Given the description of an element on the screen output the (x, y) to click on. 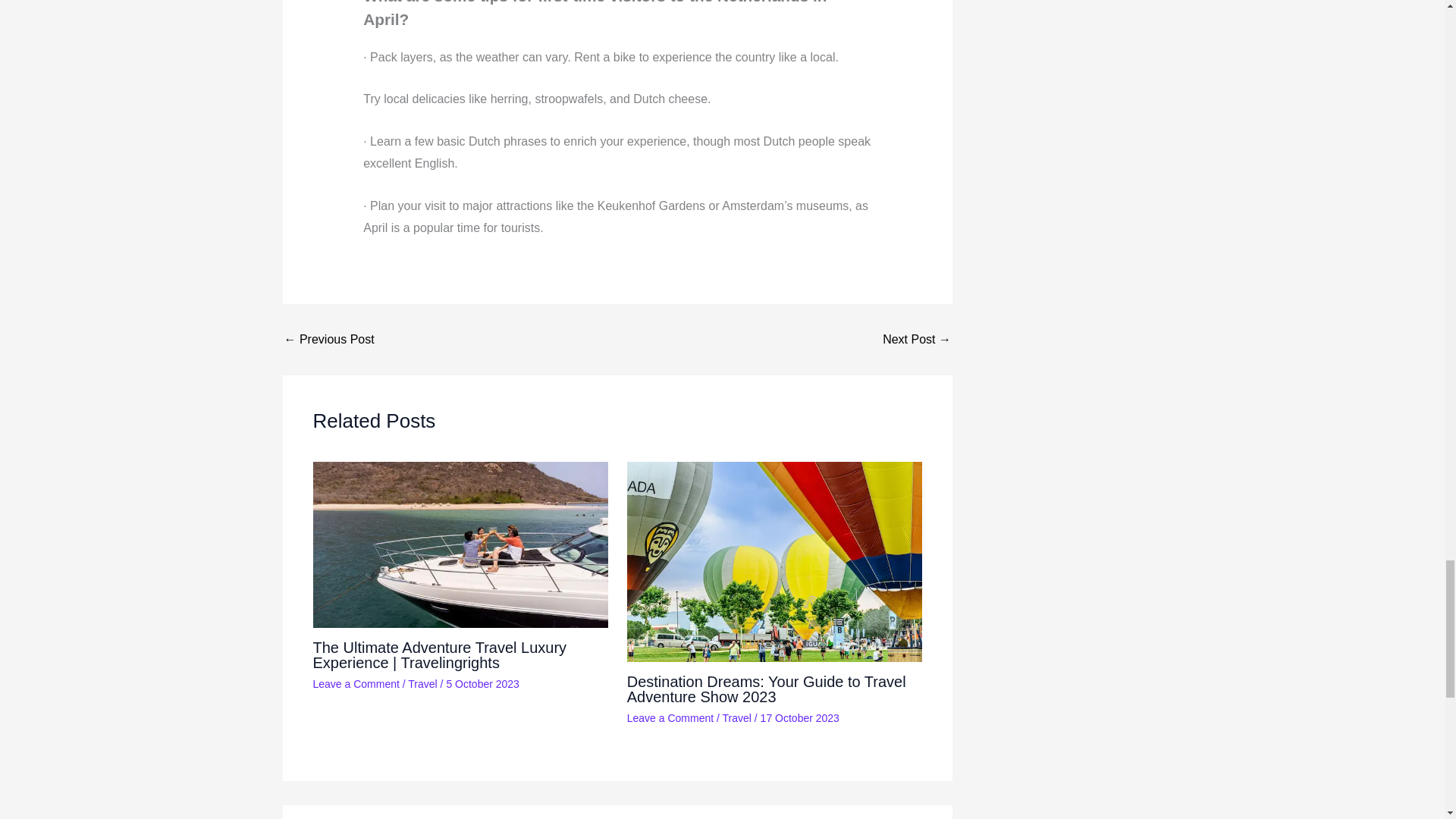
March Travel Ideas in USA (916, 339)
Travel (421, 684)
Travel (736, 717)
Leave a Comment (355, 684)
Leave a Comment (670, 717)
Destination Dreams: Your Guide to Travel Adventure Show 2023 (766, 689)
